Given the description of an element on the screen output the (x, y) to click on. 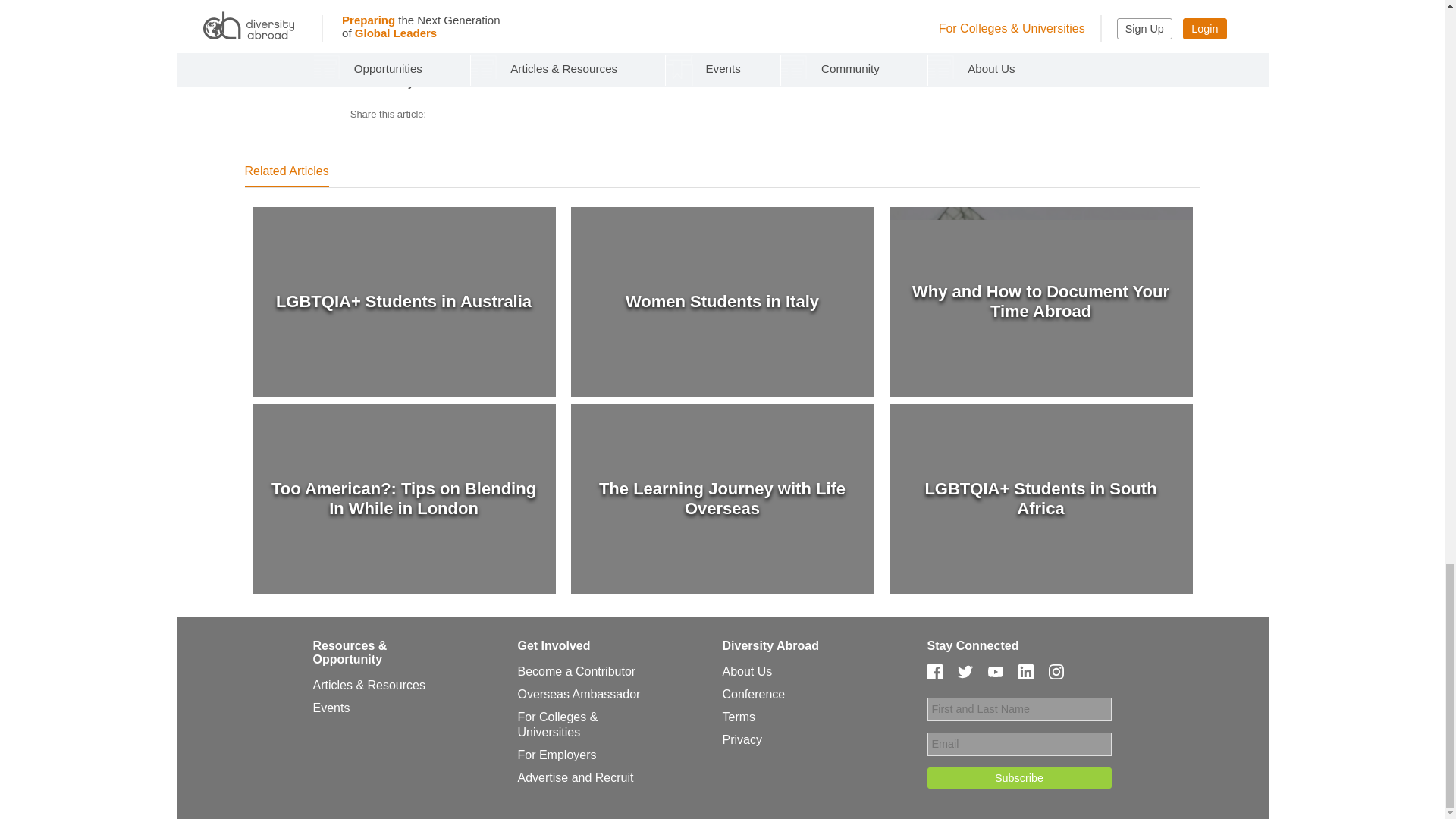
LinkedIn (1024, 671)
Instagram (1055, 671)
YouTube (995, 671)
Why and How to Document Your Time Abroad (1040, 301)
Subscribe (1018, 777)
Twitter (964, 671)
Too American?: Tips on Blending In While in London (402, 498)
Facebook (934, 671)
The Learning Journey with Life Overseas (721, 498)
Women Students in Italy (721, 301)
